Given the description of an element on the screen output the (x, y) to click on. 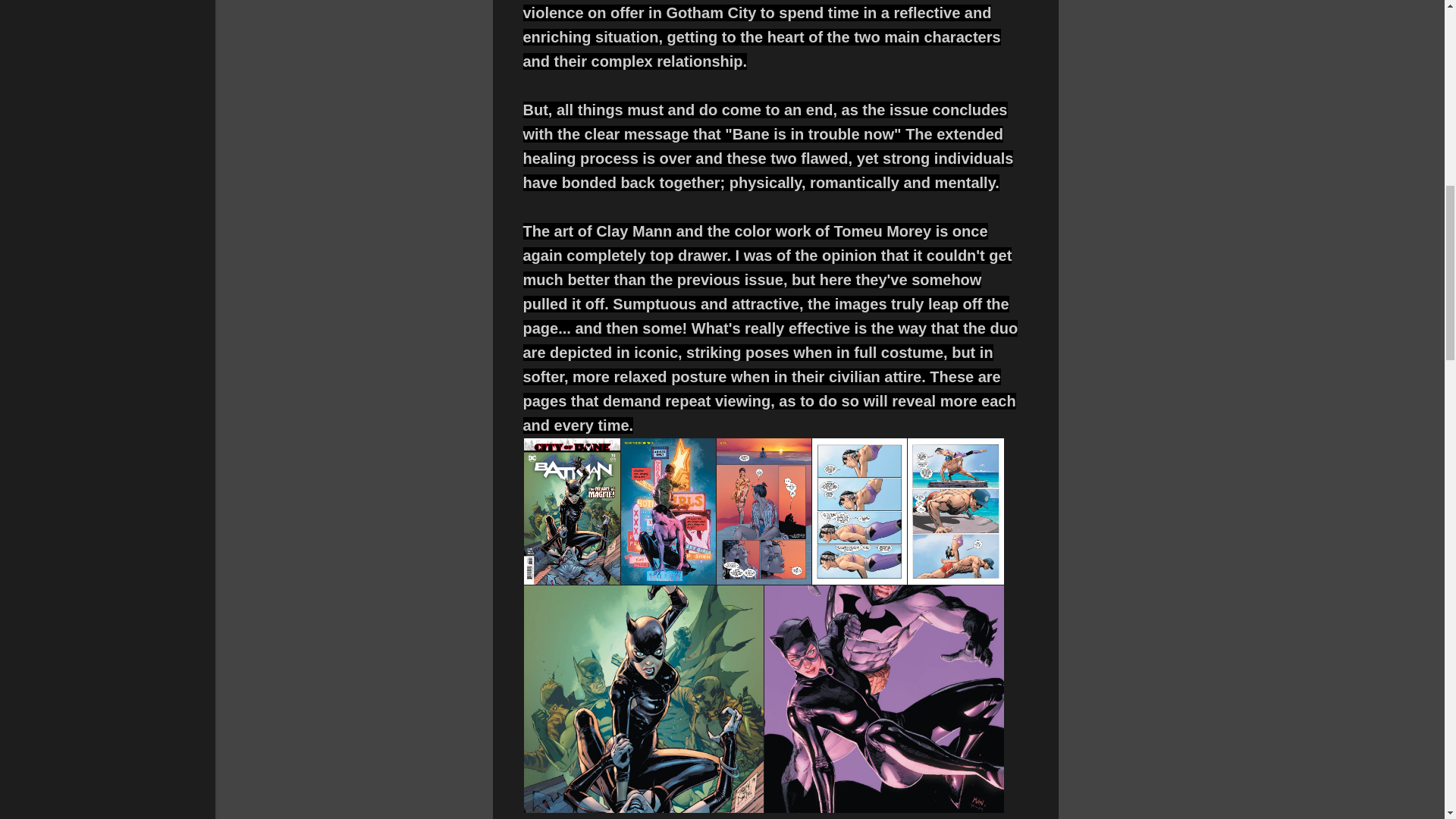
Advertisement (1118, 109)
